Given the description of an element on the screen output the (x, y) to click on. 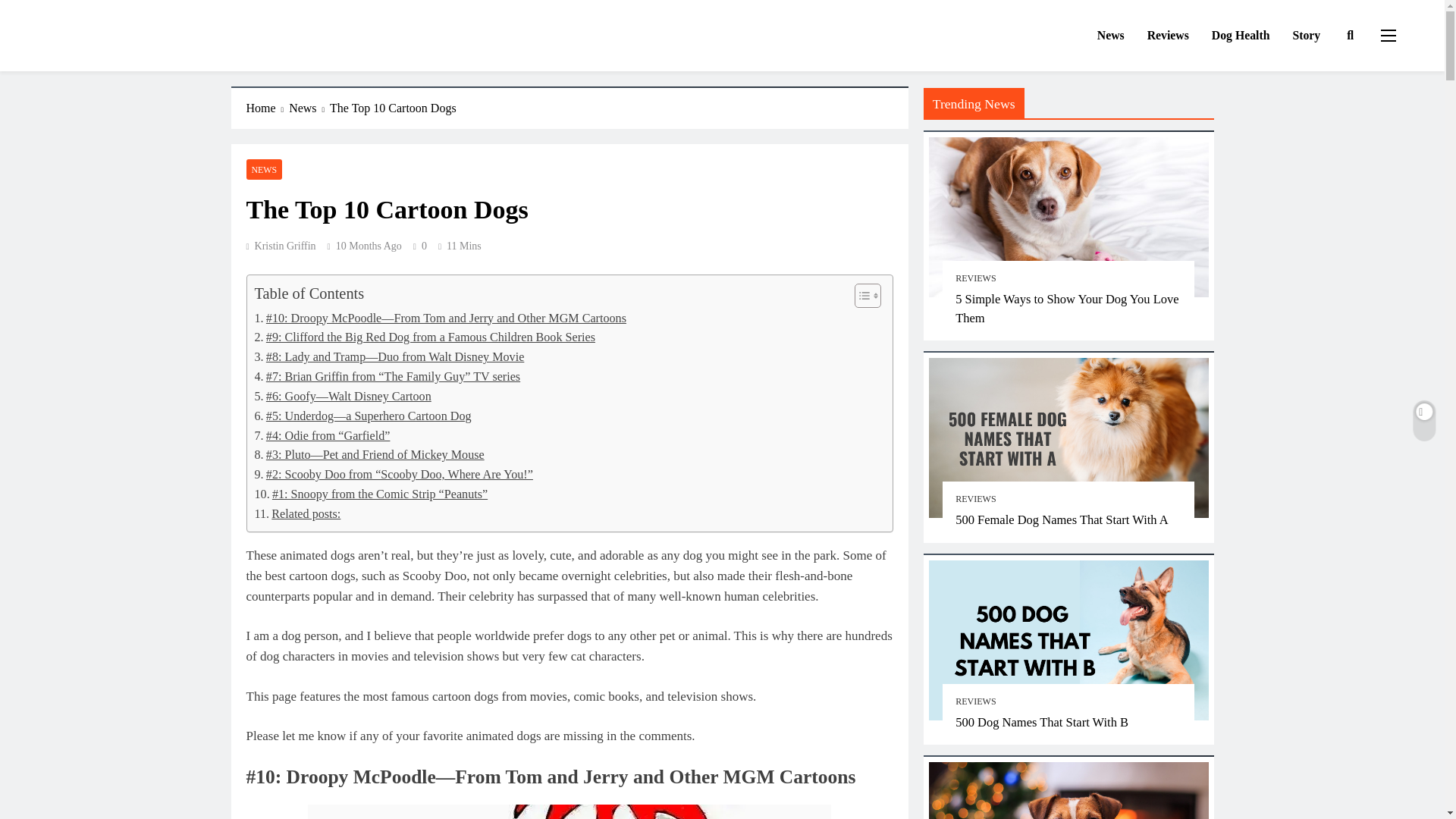
Dog Health (1240, 35)
Related posts: (297, 514)
News (309, 108)
Kristin Griffin (280, 245)
Story (1306, 35)
Home (267, 108)
NEWS (264, 168)
DogForms (94, 52)
News (1110, 35)
10 Months Ago (368, 245)
Related posts: (297, 514)
Reviews (1167, 35)
